Given the description of an element on the screen output the (x, y) to click on. 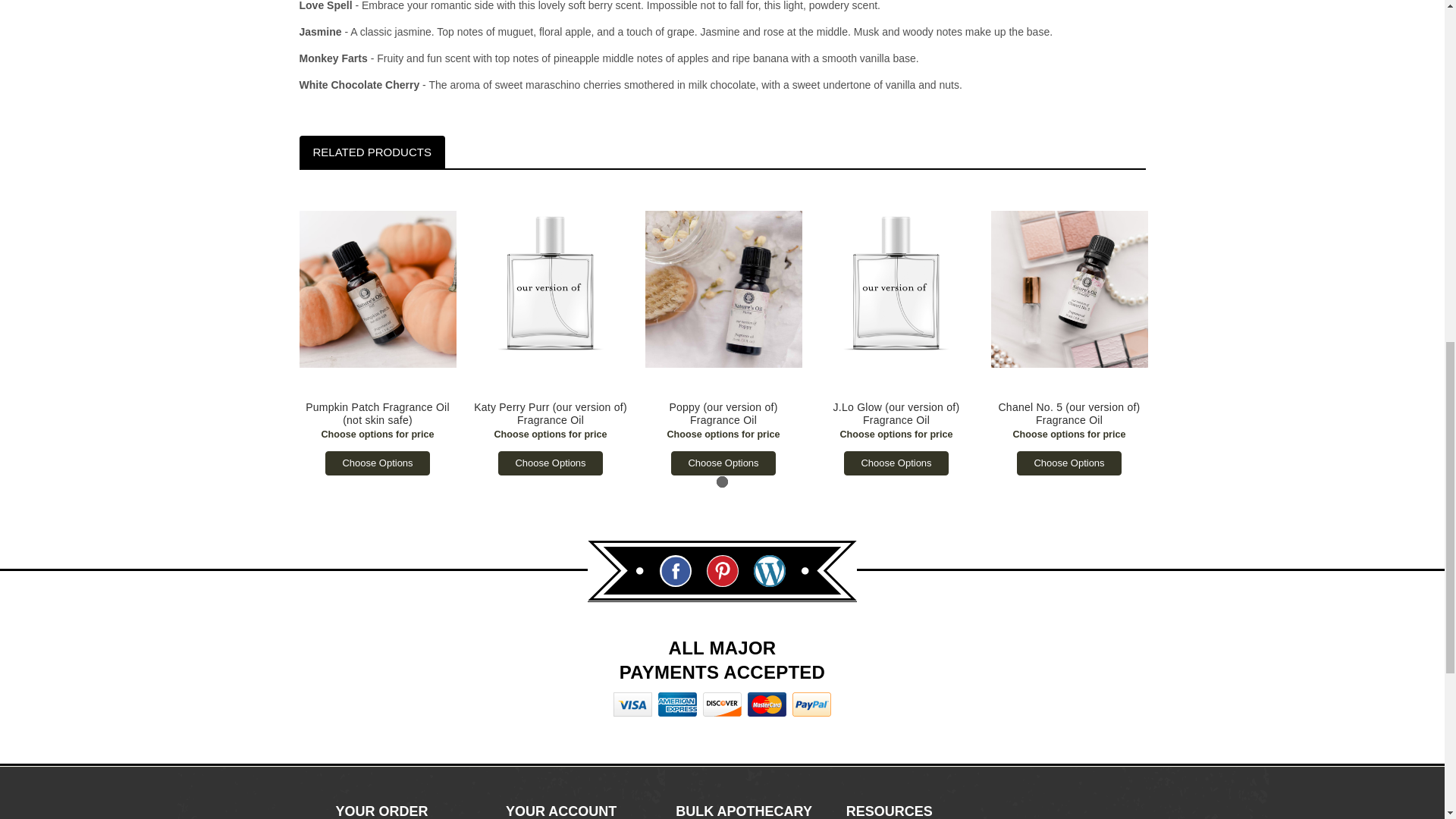
Chanel No. 5 Fragrance Oil (1068, 288)
